Given the description of an element on the screen output the (x, y) to click on. 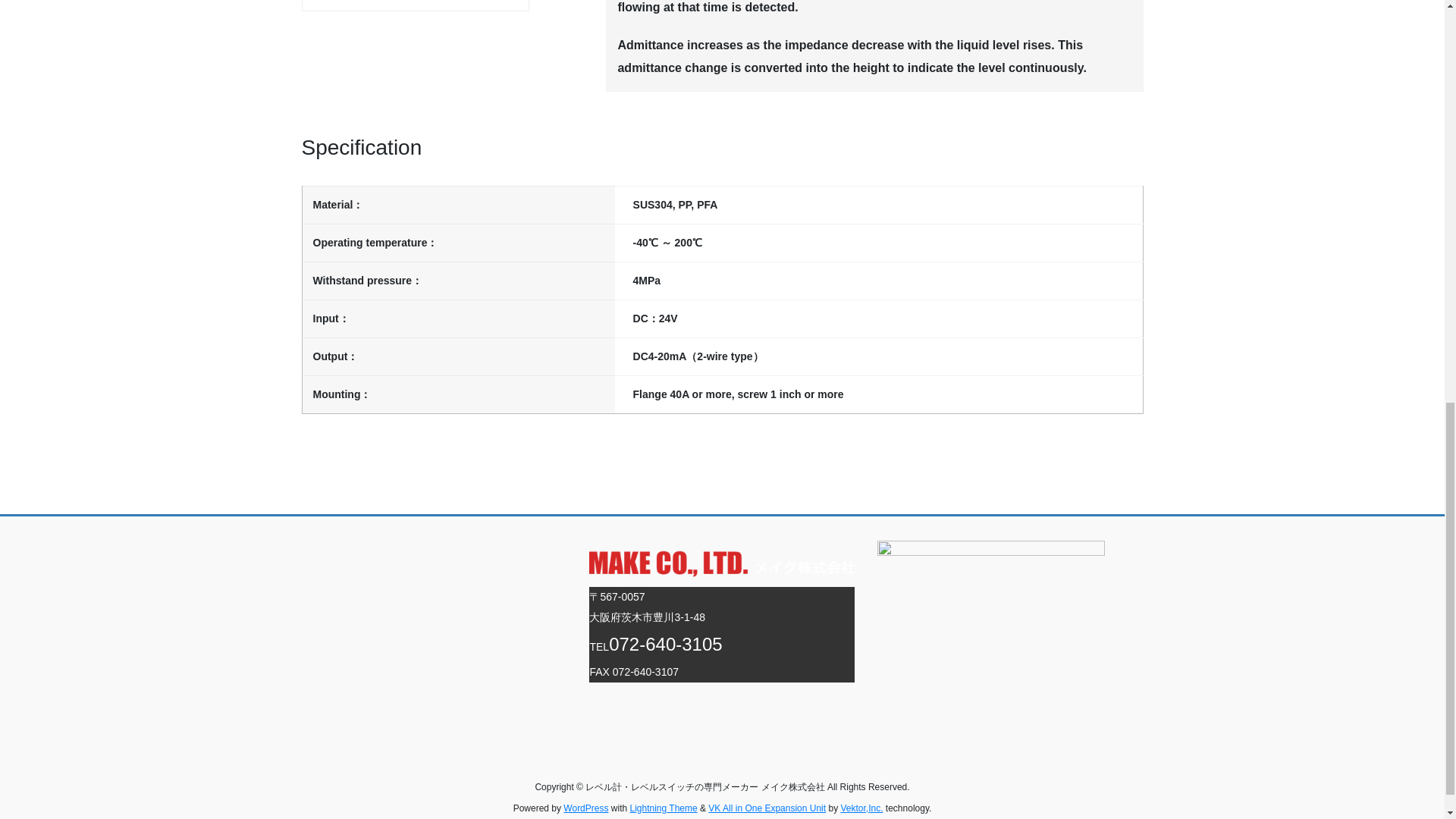
Lightning Theme (662, 808)
Vektor,Inc. (861, 808)
VK All in One Expansion Unit (766, 808)
WordPress (585, 808)
